Given the description of an element on the screen output the (x, y) to click on. 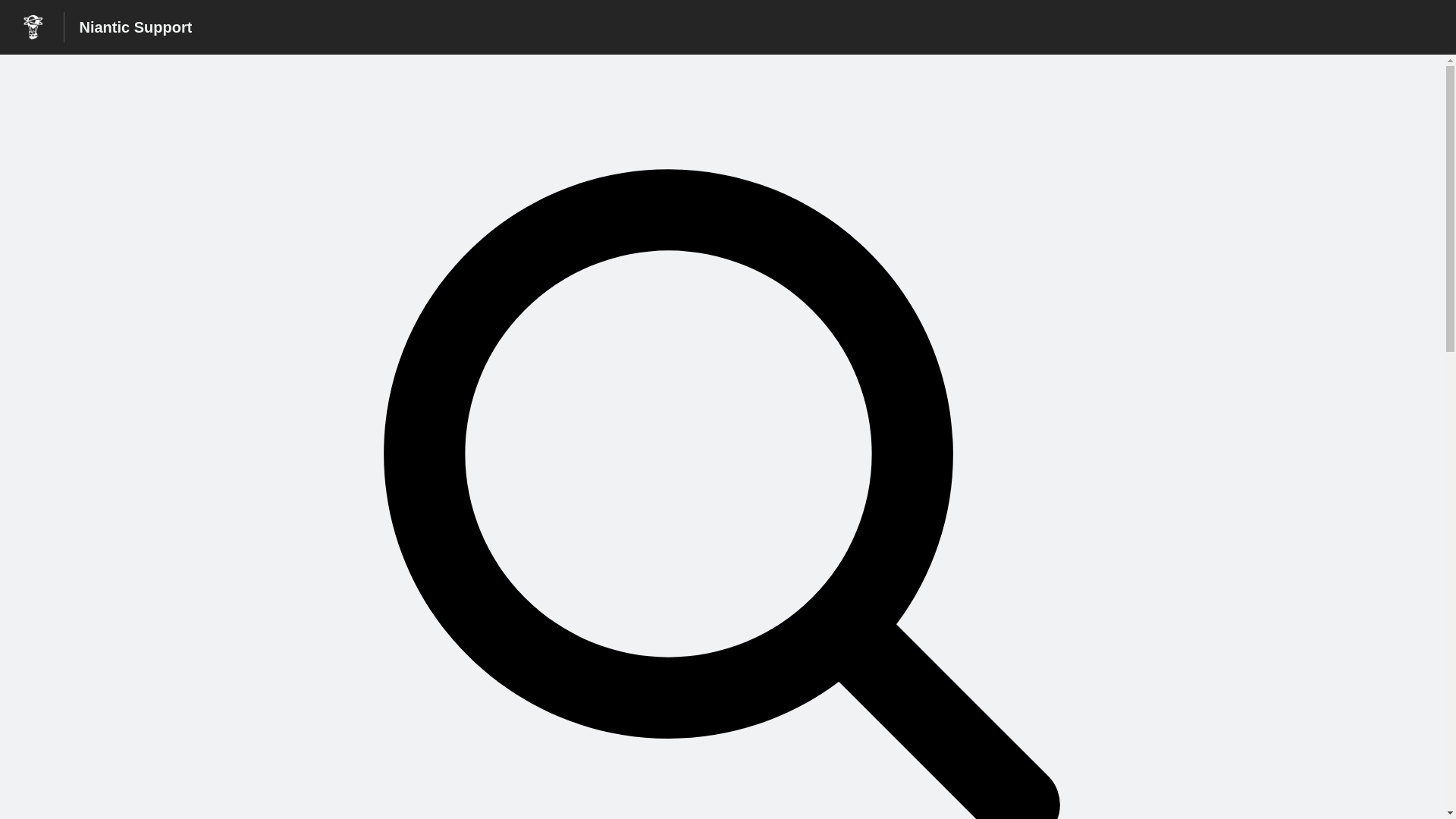
Niantic Support (135, 27)
